Given the description of an element on the screen output the (x, y) to click on. 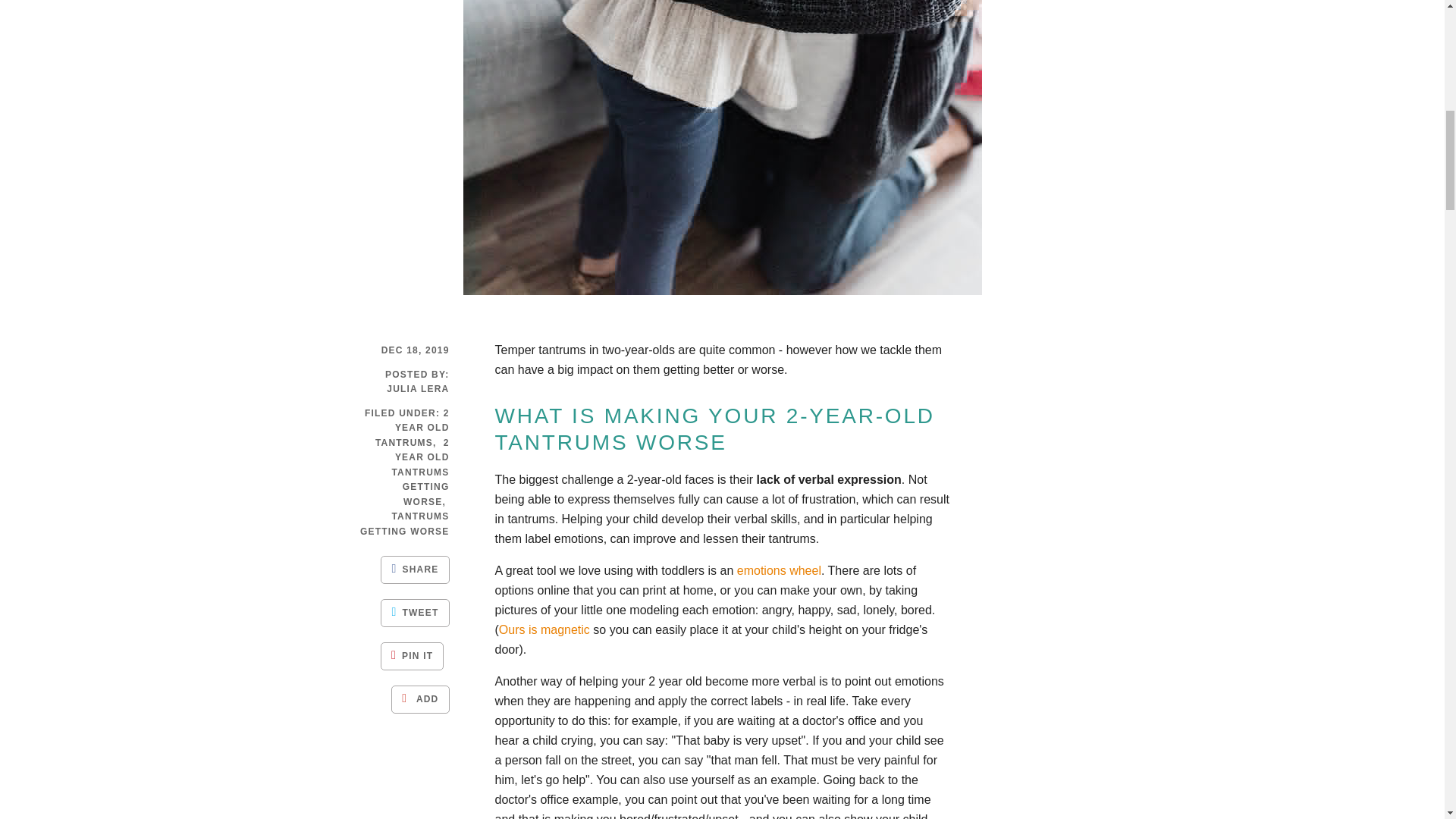
emotions wheel (778, 570)
ADD (419, 699)
PIN IT (412, 656)
Ours is magnetic (544, 629)
TWEET (414, 612)
TANTRUMS GETTING WORSE (404, 524)
feelings chart (544, 629)
SHARE (414, 569)
emotions wheel (778, 570)
2 YEAR OLD TANTRUMS (412, 427)
